Given the description of an element on the screen output the (x, y) to click on. 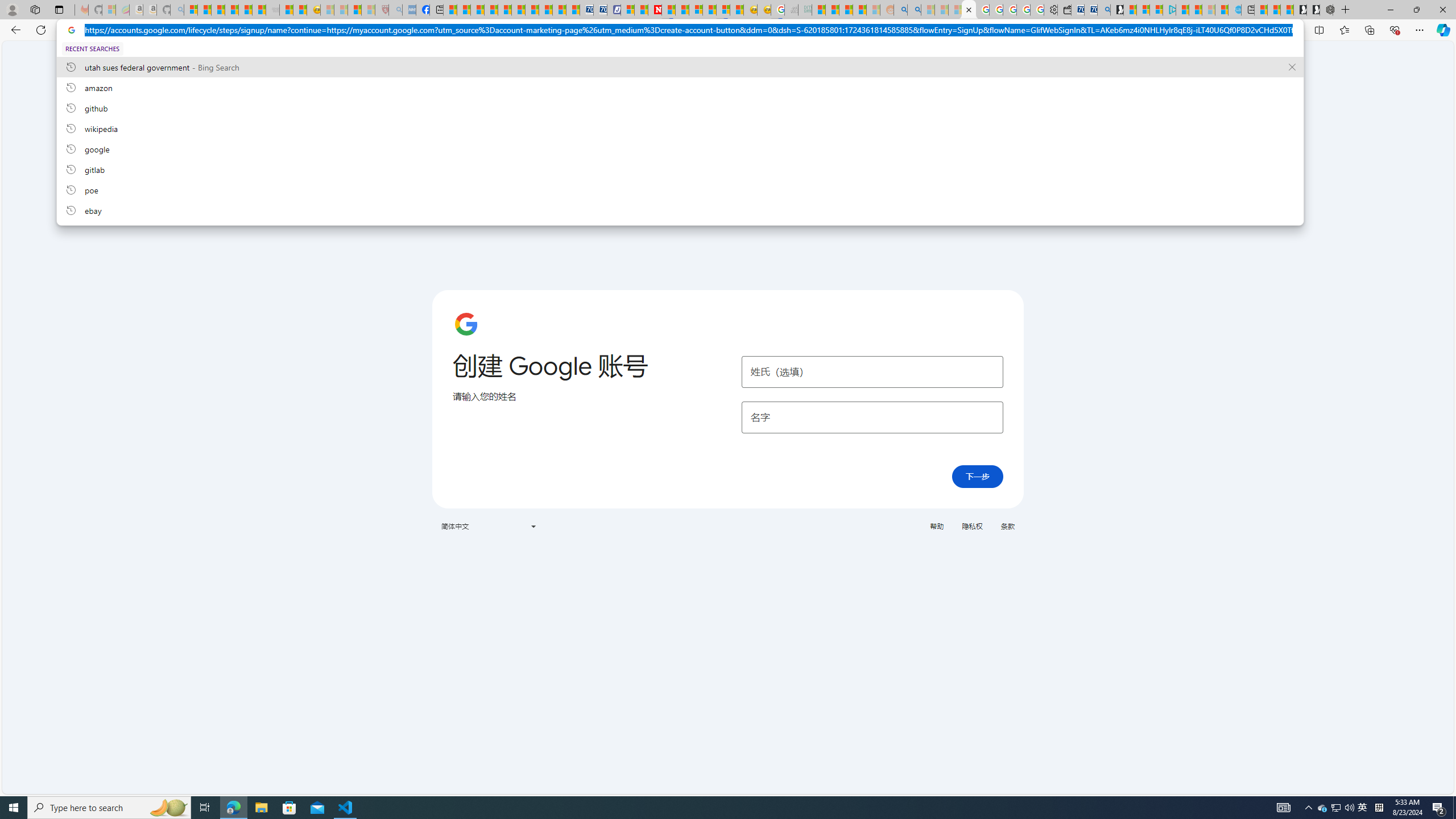
github, recent searches from history (679, 107)
amazon, recent searches from history (679, 86)
